Given the description of an element on the screen output the (x, y) to click on. 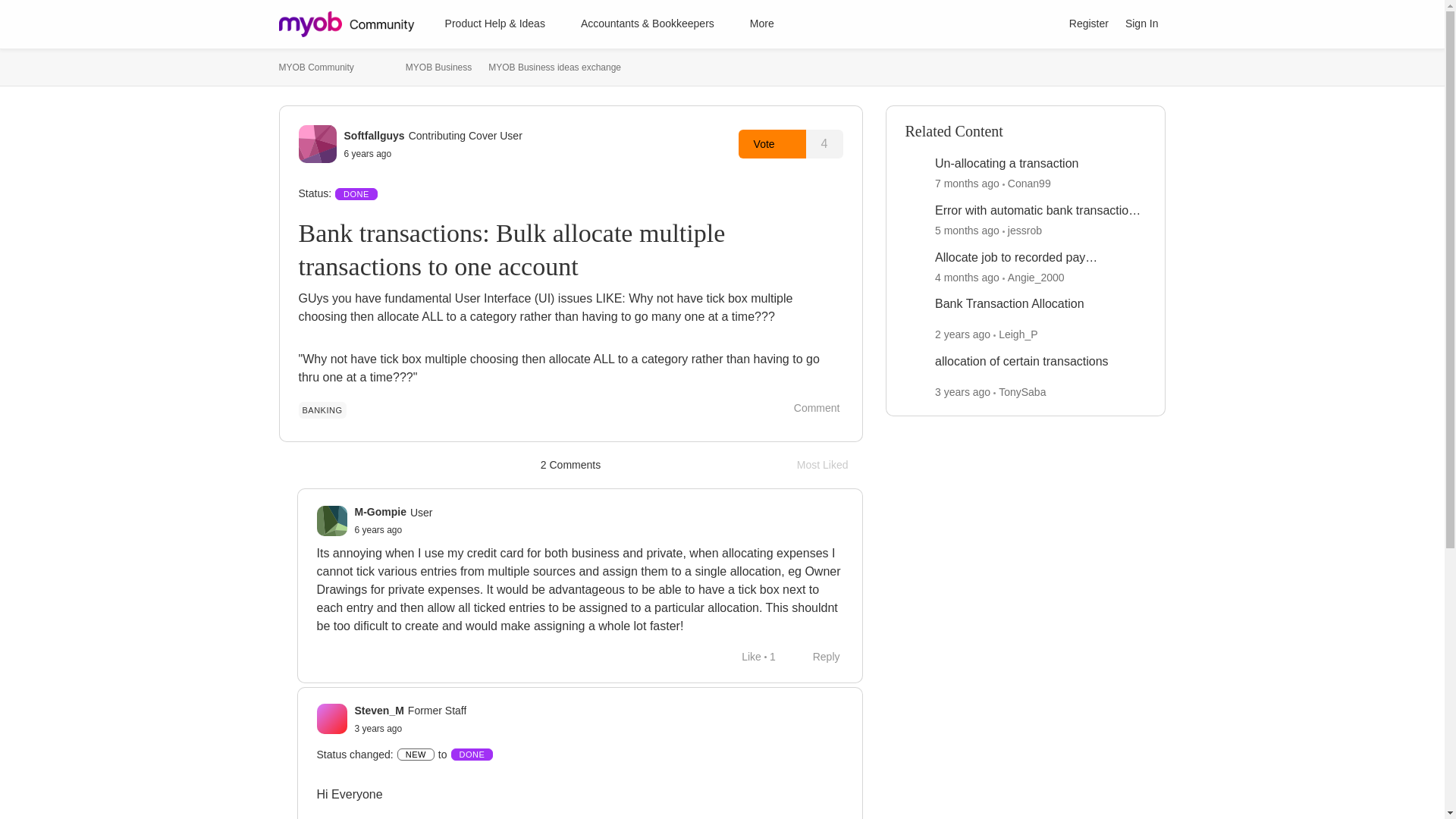
Search (1043, 24)
Bank Transaction Allocation (829, 465)
Register (1008, 304)
June 29, 2022 at 8:16 AM (1088, 23)
Reply (379, 728)
Skip to content (818, 657)
MYOB Community (329, 56)
3 years ago (316, 66)
Allocate job to recorded pay transaction (379, 728)
Softfallguys (1039, 258)
More (373, 135)
Like (768, 23)
6 years ago (743, 657)
September 19, 2022 at 9:20 AM (379, 530)
